Given the description of an element on the screen output the (x, y) to click on. 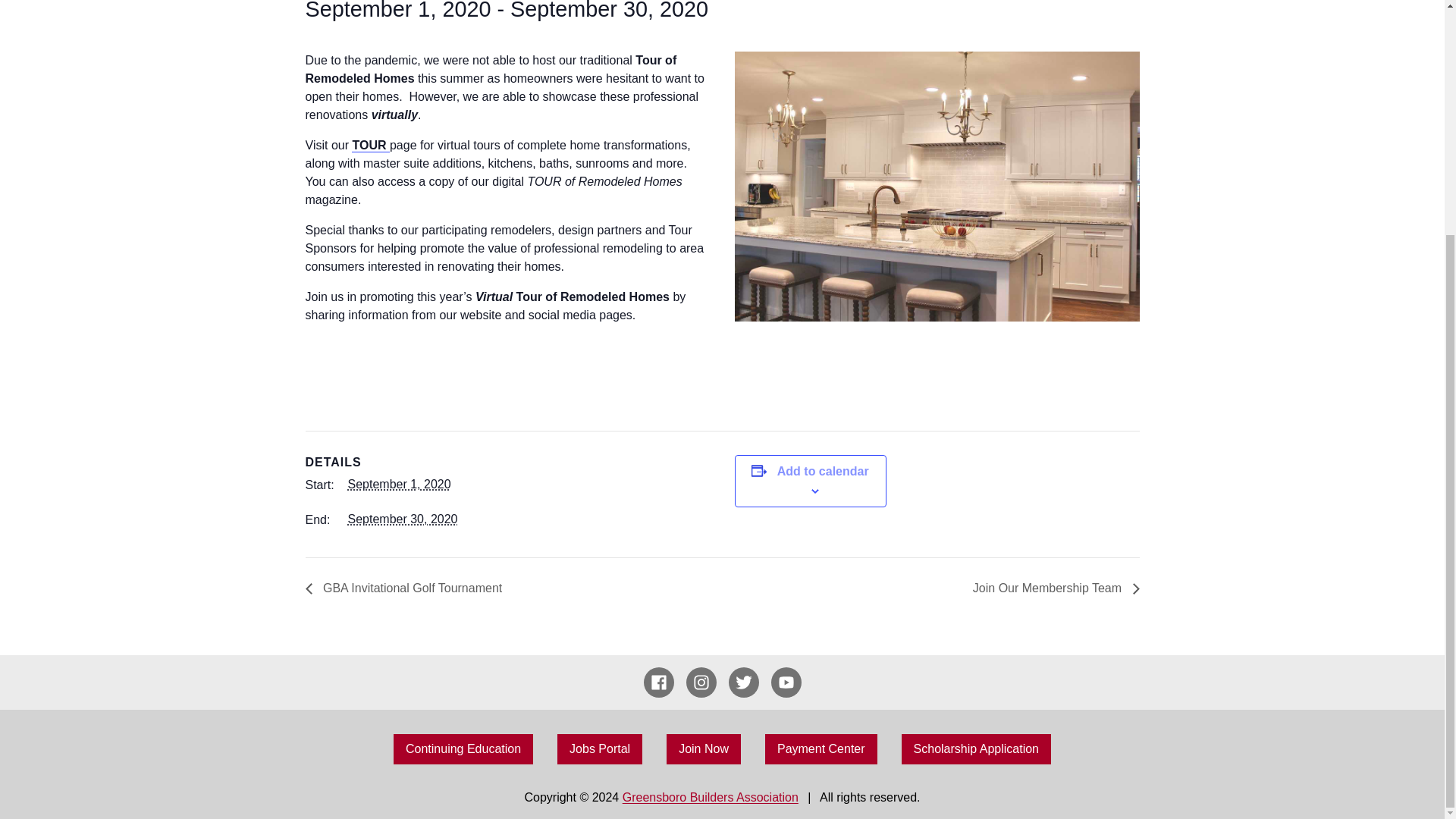
Add to calendar (823, 471)
Join Now (703, 748)
2020-09-30 (402, 518)
Twitter (743, 682)
Jobs Portal (599, 748)
Greensboro Builders Association (710, 797)
YouTube (785, 682)
Scholarship Application (976, 748)
TOUR (371, 145)
Join Our Membership Team (1051, 587)
